Given the description of an element on the screen output the (x, y) to click on. 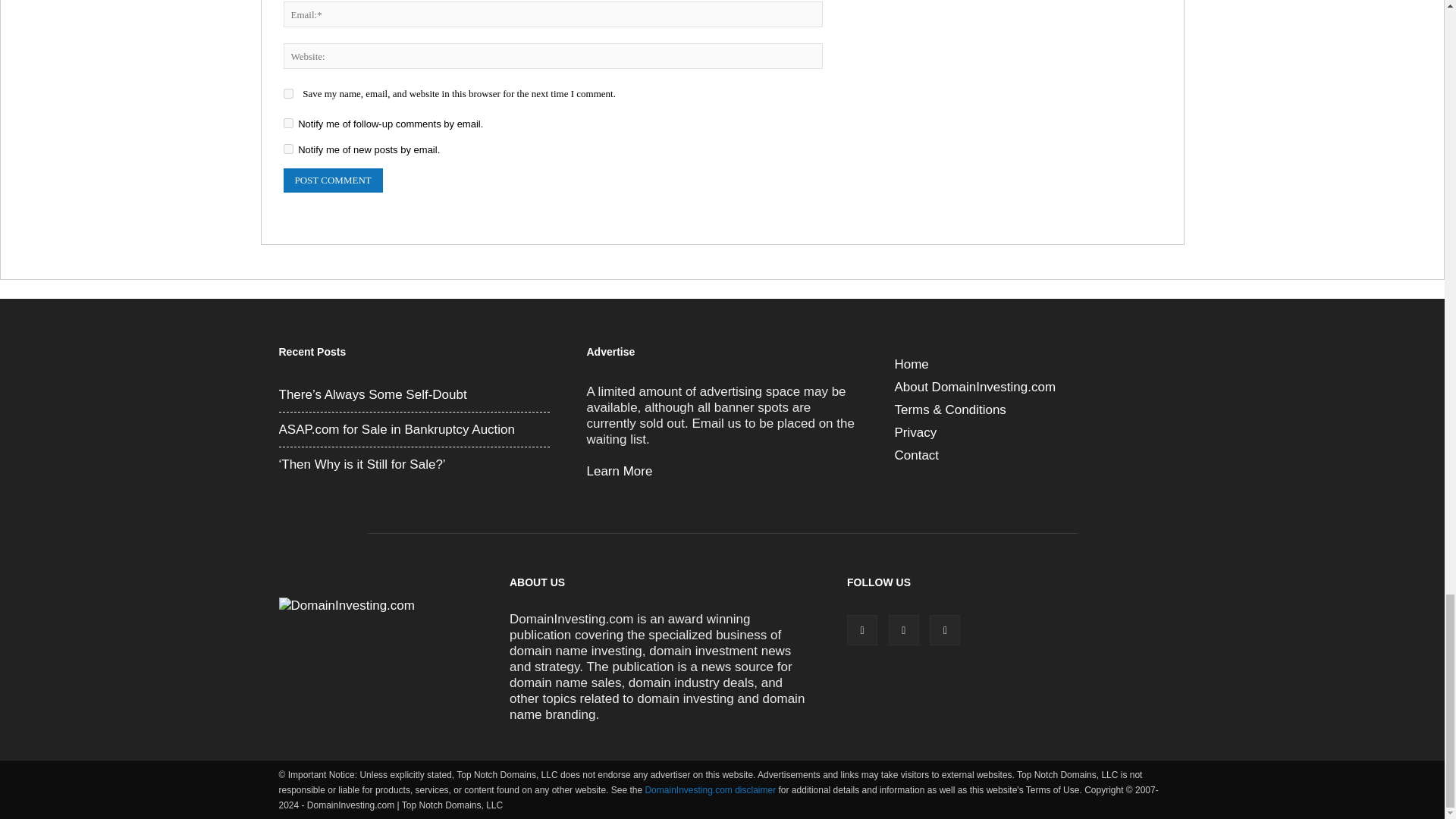
subscribe (288, 148)
yes (288, 93)
subscribe (288, 122)
Post Comment (332, 180)
